Given the description of an element on the screen output the (x, y) to click on. 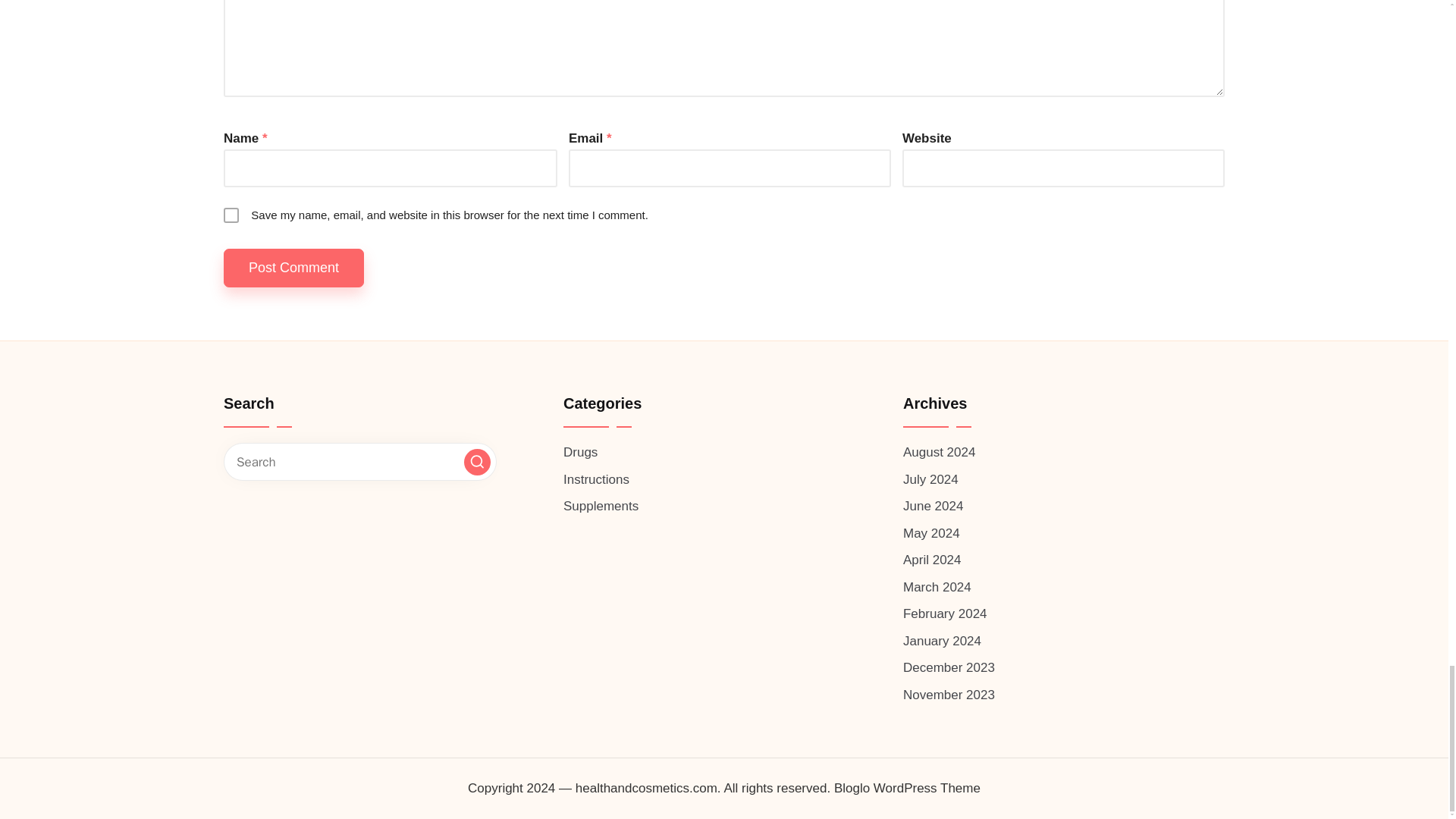
Post Comment (294, 267)
yes (231, 215)
